Given the description of an element on the screen output the (x, y) to click on. 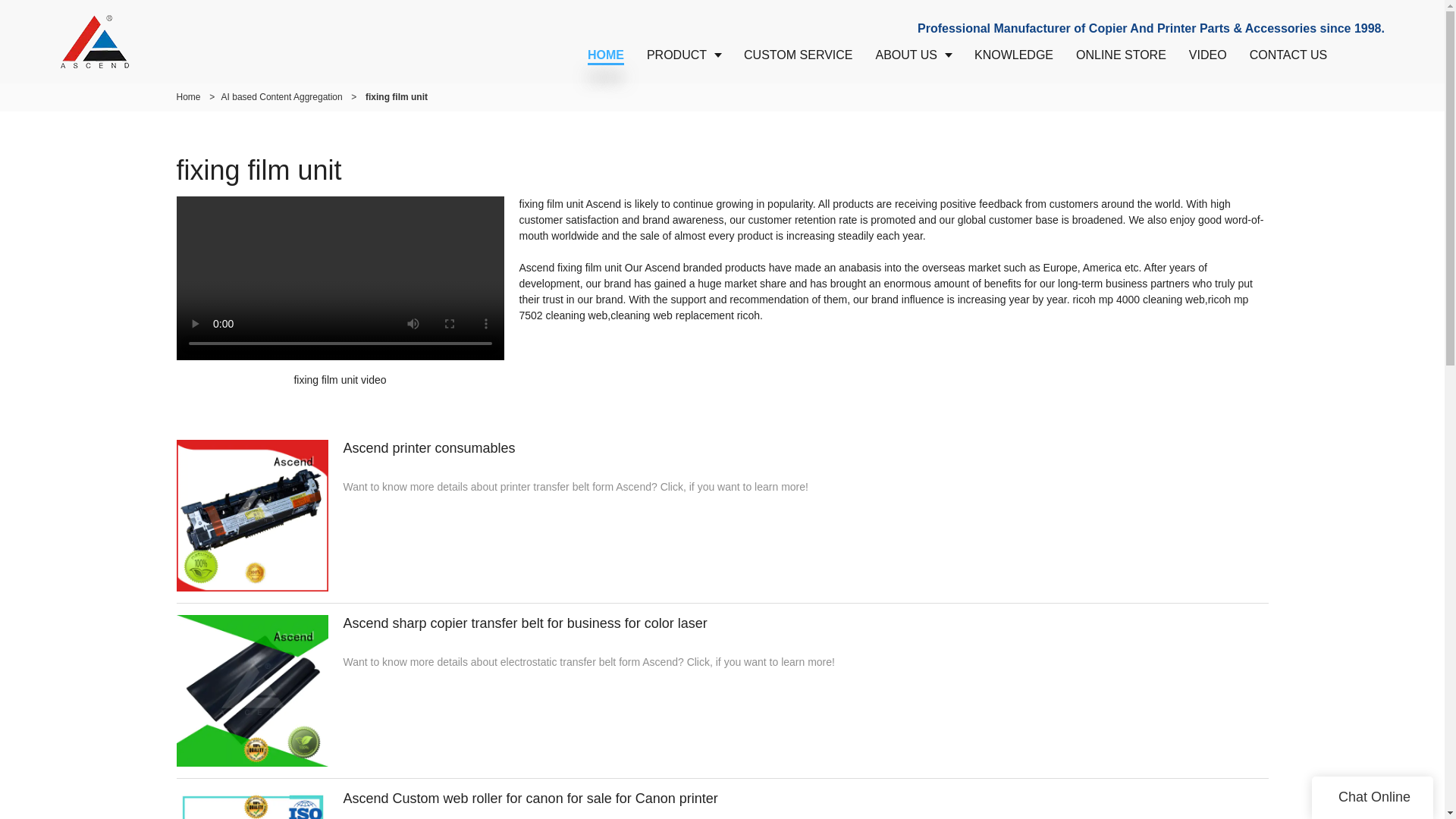
KNOWLEDGE (1013, 55)
ABOUT US (912, 55)
PRODUCT (683, 55)
HOME (605, 55)
CUSTOM SERVICE (797, 55)
ONLINE STORE (1120, 55)
